Given the description of an element on the screen output the (x, y) to click on. 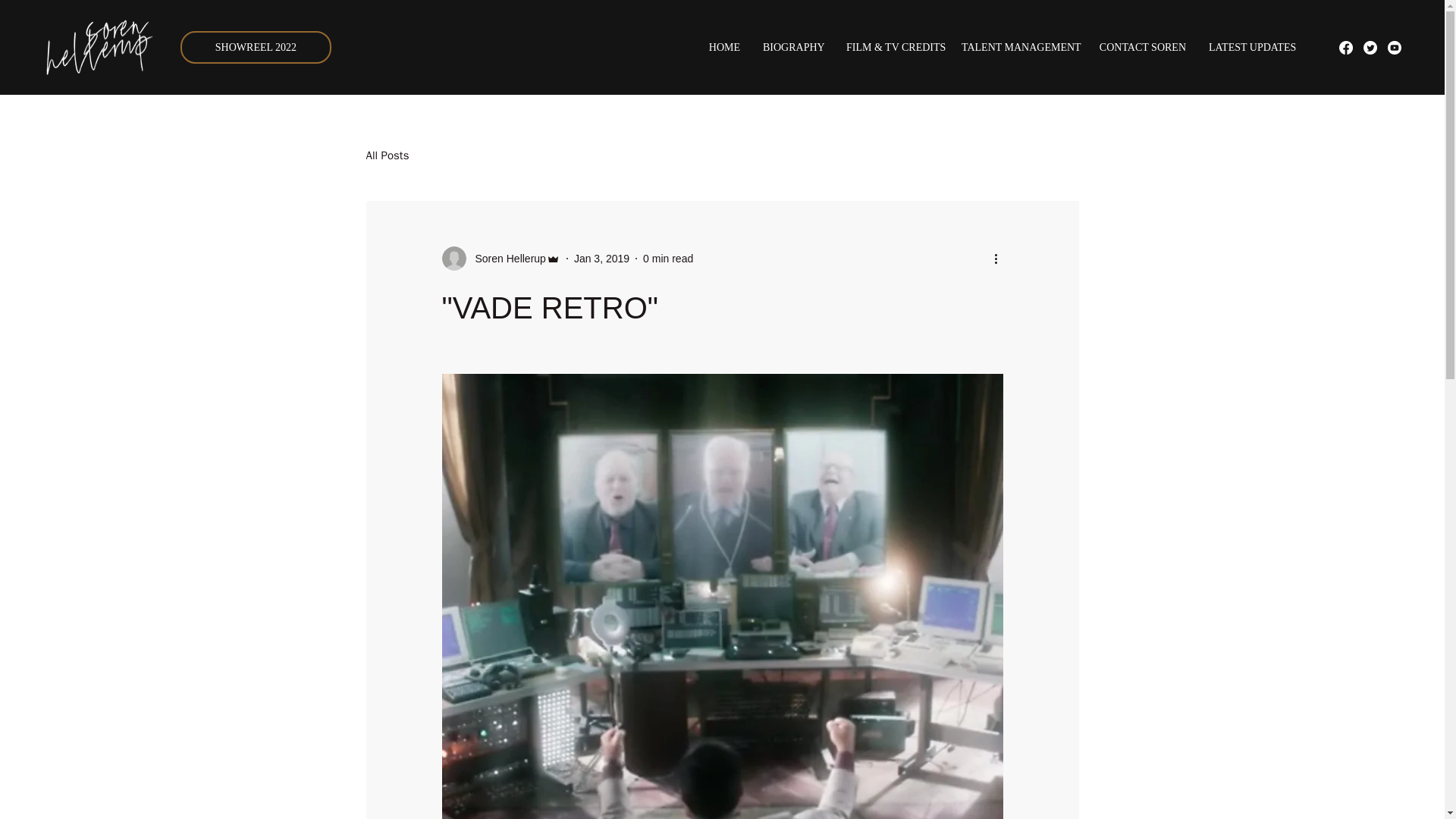
SHOWREEL 2022 (255, 47)
BIOGRAPHY (792, 47)
TALENT MANAGEMENT (1018, 47)
LATEST UPDATES (1249, 47)
Jan 3, 2019 (600, 257)
CONTACT SOREN (1141, 47)
All Posts (387, 155)
0 min read (668, 257)
Soren Hellerup (504, 258)
HOME (724, 47)
